Given the description of an element on the screen output the (x, y) to click on. 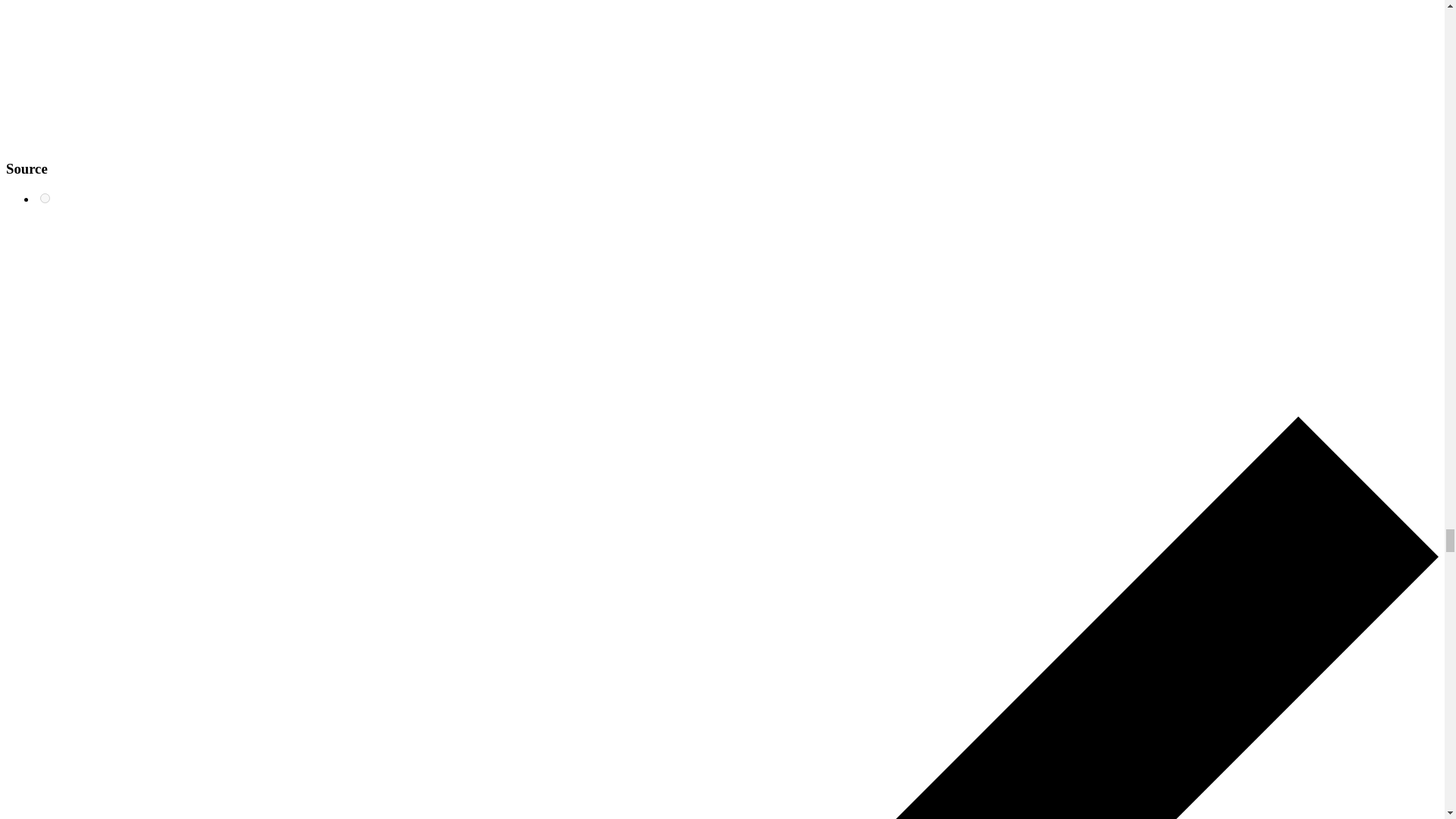
Languages and International Studies (44, 198)
